Given the description of an element on the screen output the (x, y) to click on. 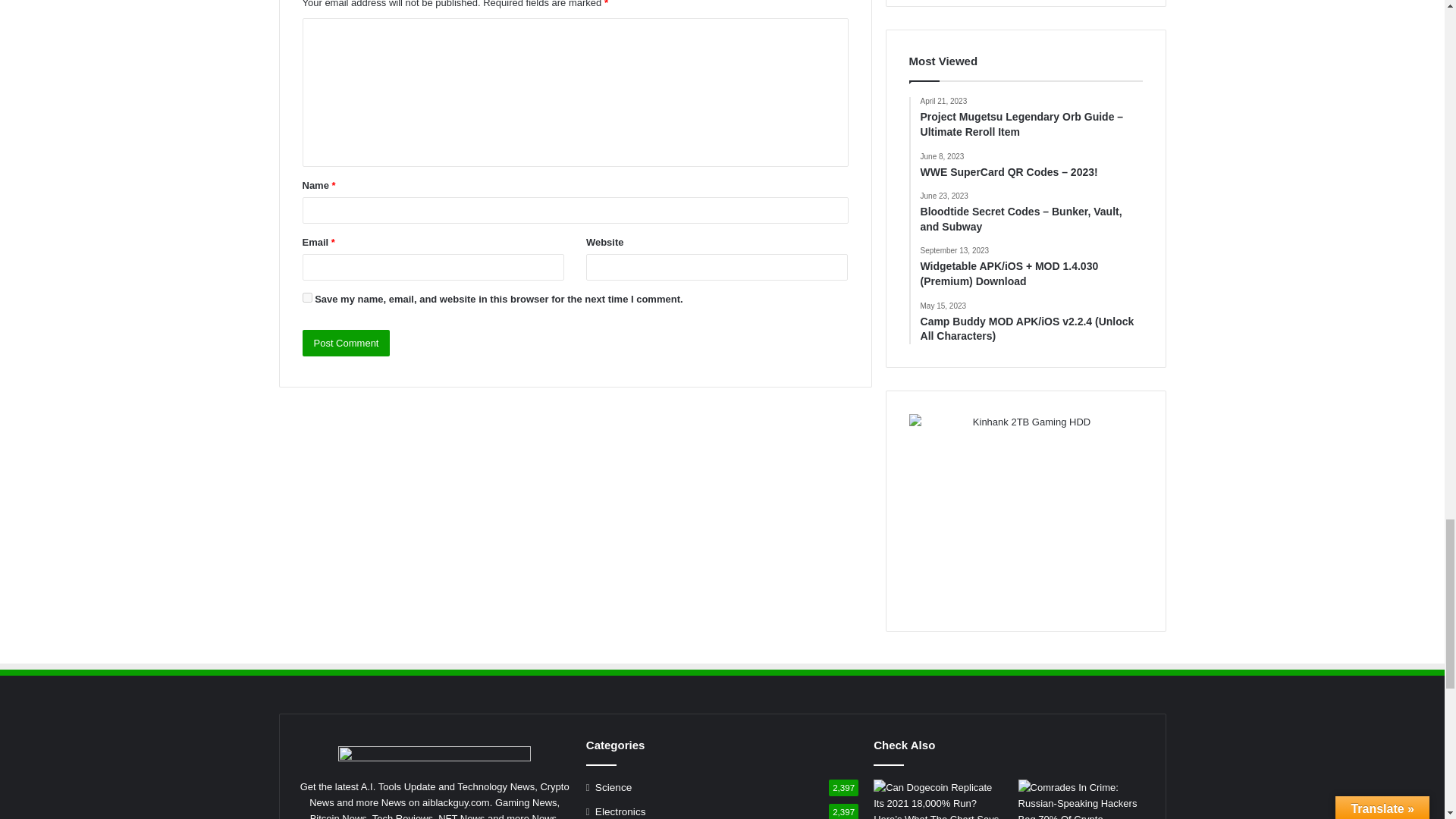
Post Comment (345, 343)
yes (306, 297)
